Given the description of an element on the screen output the (x, y) to click on. 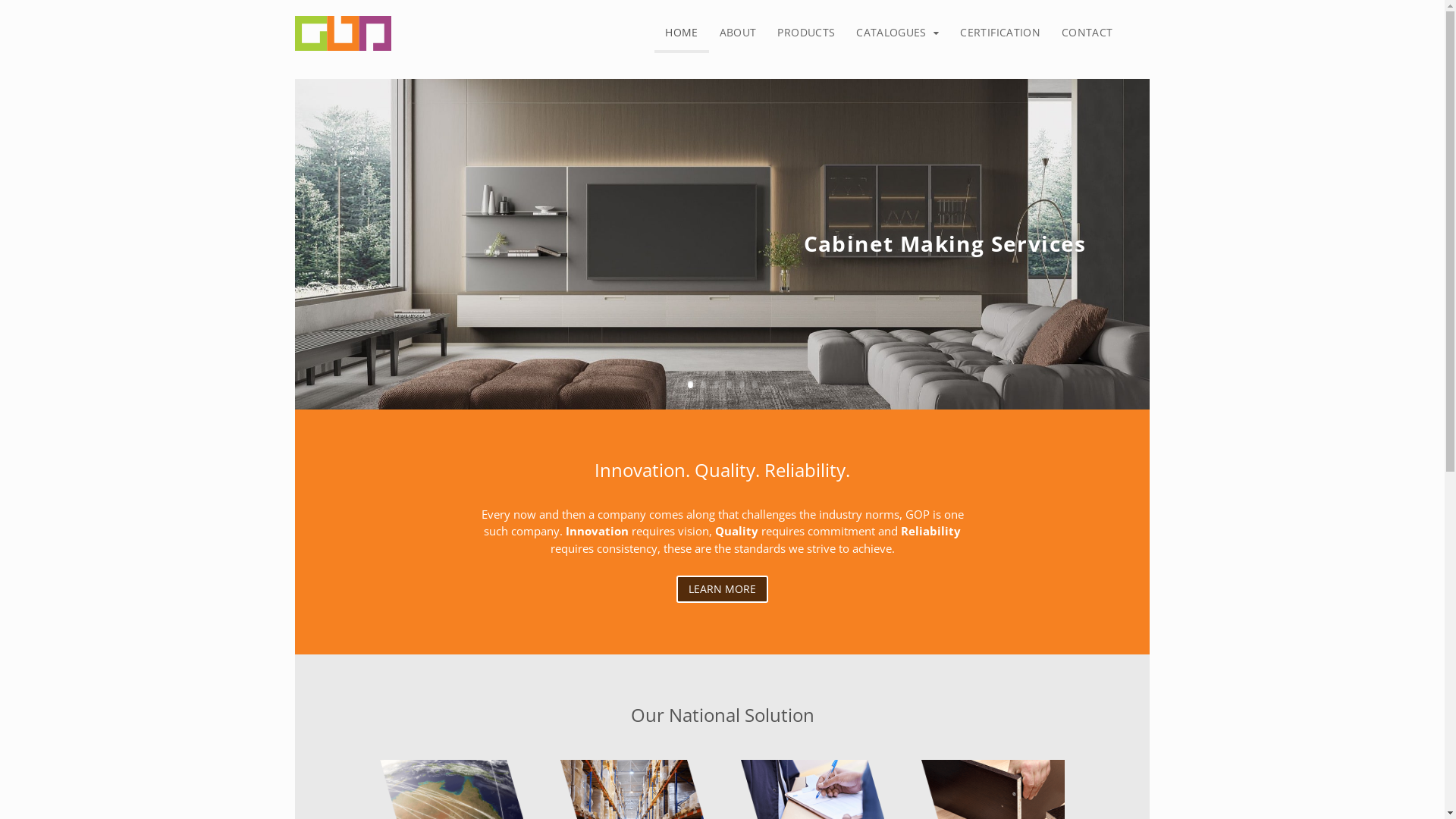
PRODUCTS Element type: text (805, 32)
Cabinet Making Services Element type: text (944, 247)
CONTACT Element type: text (1087, 32)
2 Element type: text (703, 384)
CERTIFICATION Element type: text (1000, 32)
6 Element type: text (754, 384)
LEARN MORE Element type: text (722, 588)
5 Element type: text (740, 384)
HOME Element type: text (681, 34)
4 Element type: text (728, 384)
3 Element type: text (715, 384)
CATALOGUES Element type: text (897, 32)
1 Element type: text (689, 384)
ABOUT Element type: text (738, 32)
